Given the description of an element on the screen output the (x, y) to click on. 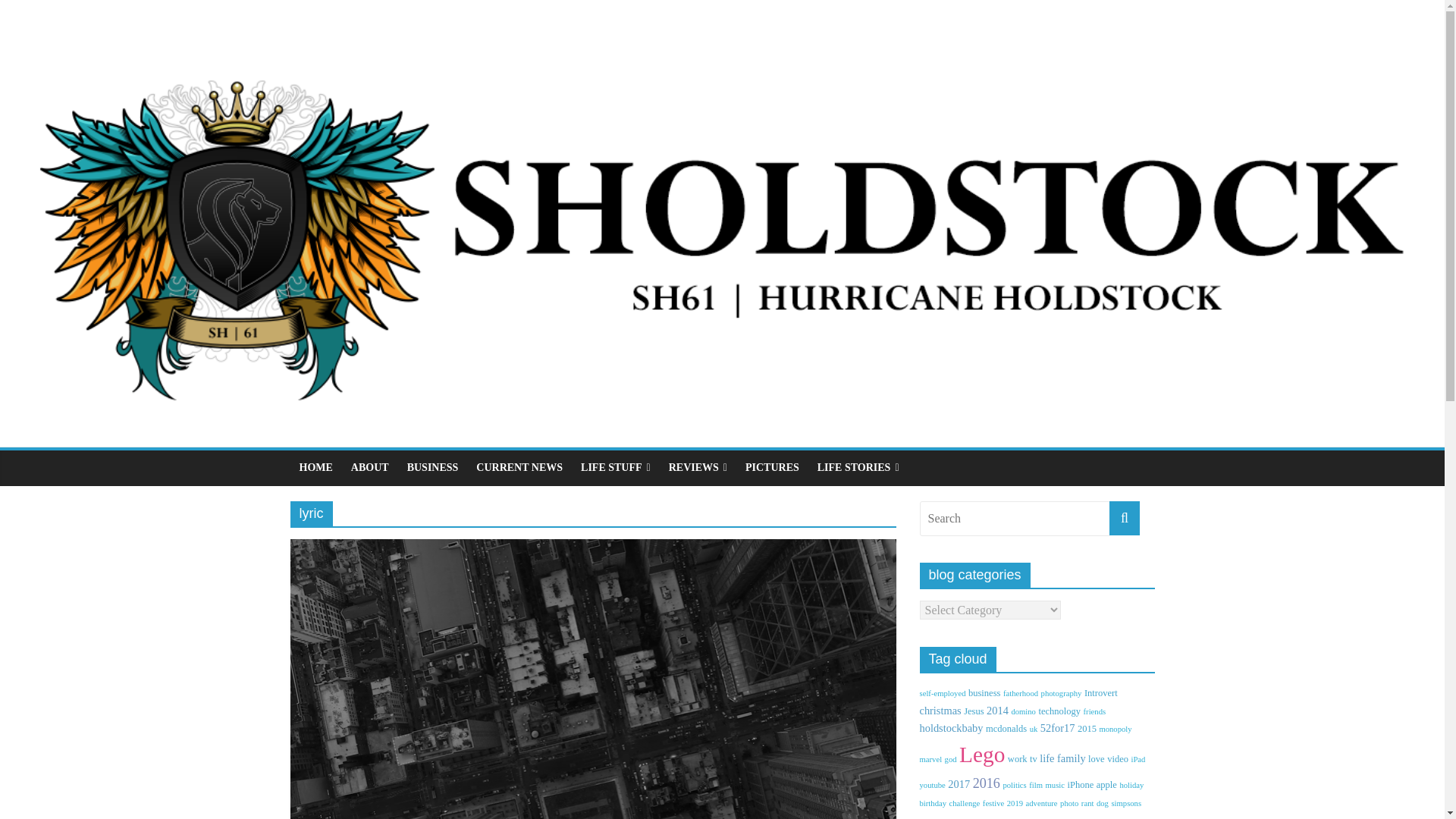
CURRENT NEWS (519, 467)
14 topics (984, 692)
LIFE STUFF (615, 467)
19 topics (939, 710)
10 topics (973, 710)
7 topics (1020, 693)
13 topics (1101, 692)
7 topics (1061, 693)
11 topics (1059, 710)
HOME (314, 467)
BUSINESS (432, 467)
PICTURES (772, 467)
LIFE STORIES (858, 467)
7 topics (941, 693)
ABOUT (369, 467)
